Given the description of an element on the screen output the (x, y) to click on. 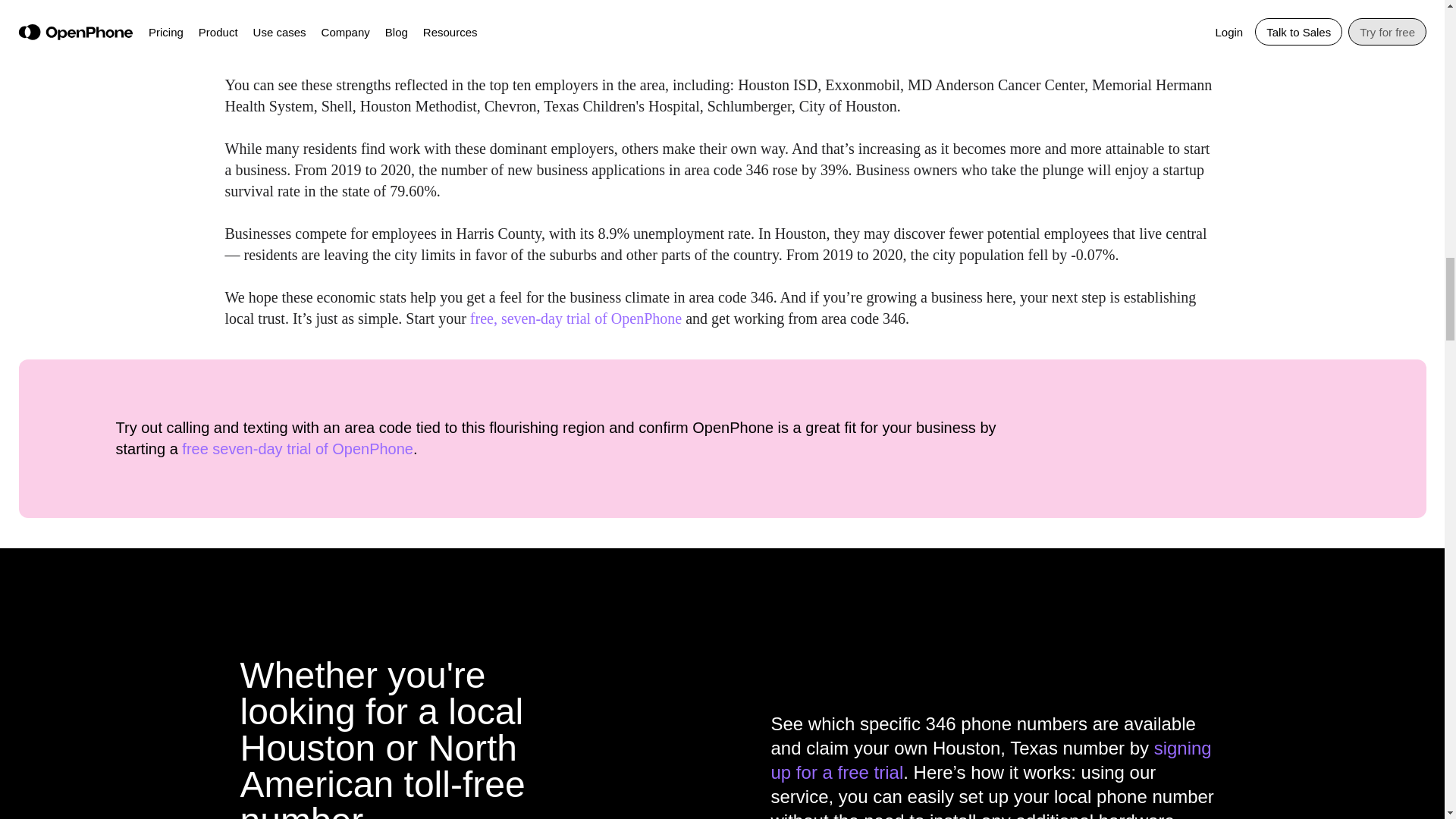
free, seven-day trial of OpenPhone (575, 318)
signing up for a free trial (990, 759)
free seven-day trial of OpenPhone (297, 448)
